Given the description of an element on the screen output the (x, y) to click on. 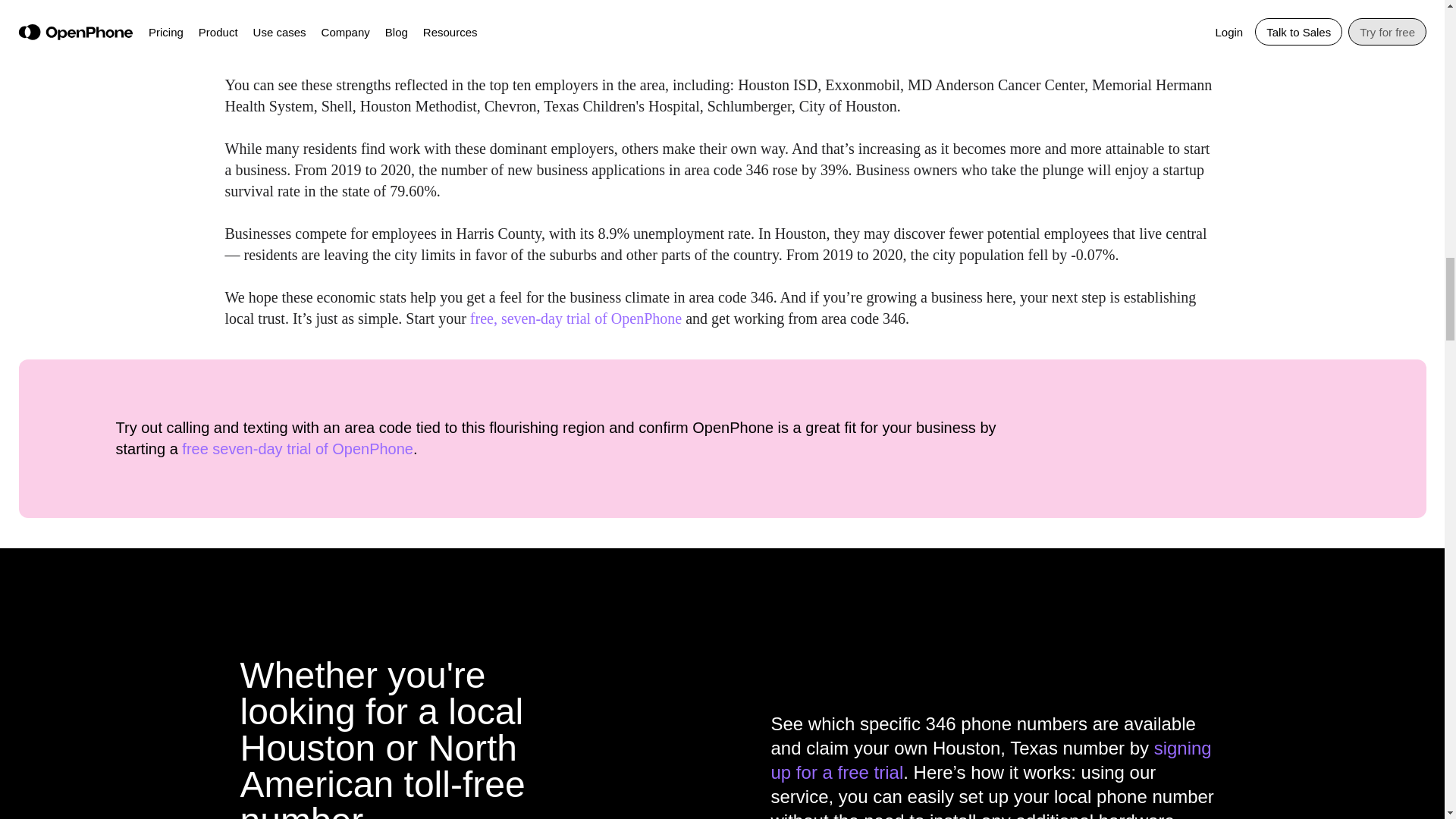
free, seven-day trial of OpenPhone (575, 318)
signing up for a free trial (990, 759)
free seven-day trial of OpenPhone (297, 448)
